Given the description of an element on the screen output the (x, y) to click on. 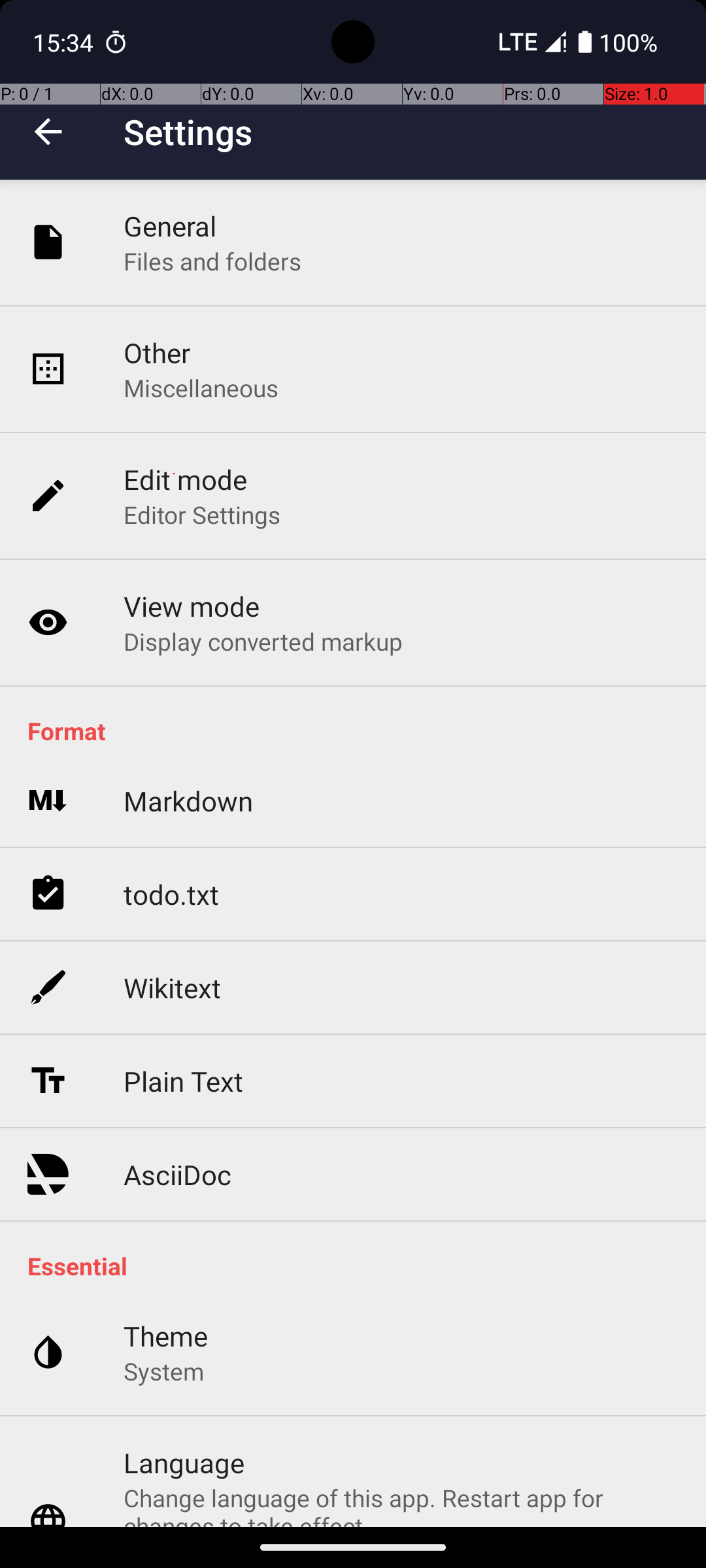
Essential Element type: android.widget.TextView (359, 1265)
Files and folders Element type: android.widget.TextView (212, 260)
Miscellaneous Element type: android.widget.TextView (200, 387)
Editor Settings Element type: android.widget.TextView (202, 514)
Display converted markup Element type: android.widget.TextView (263, 640)
Change language of this app. Restart app for changes to take effect

English (English, United States) Element type: android.widget.TextView (400, 1503)
